Given the description of an element on the screen output the (x, y) to click on. 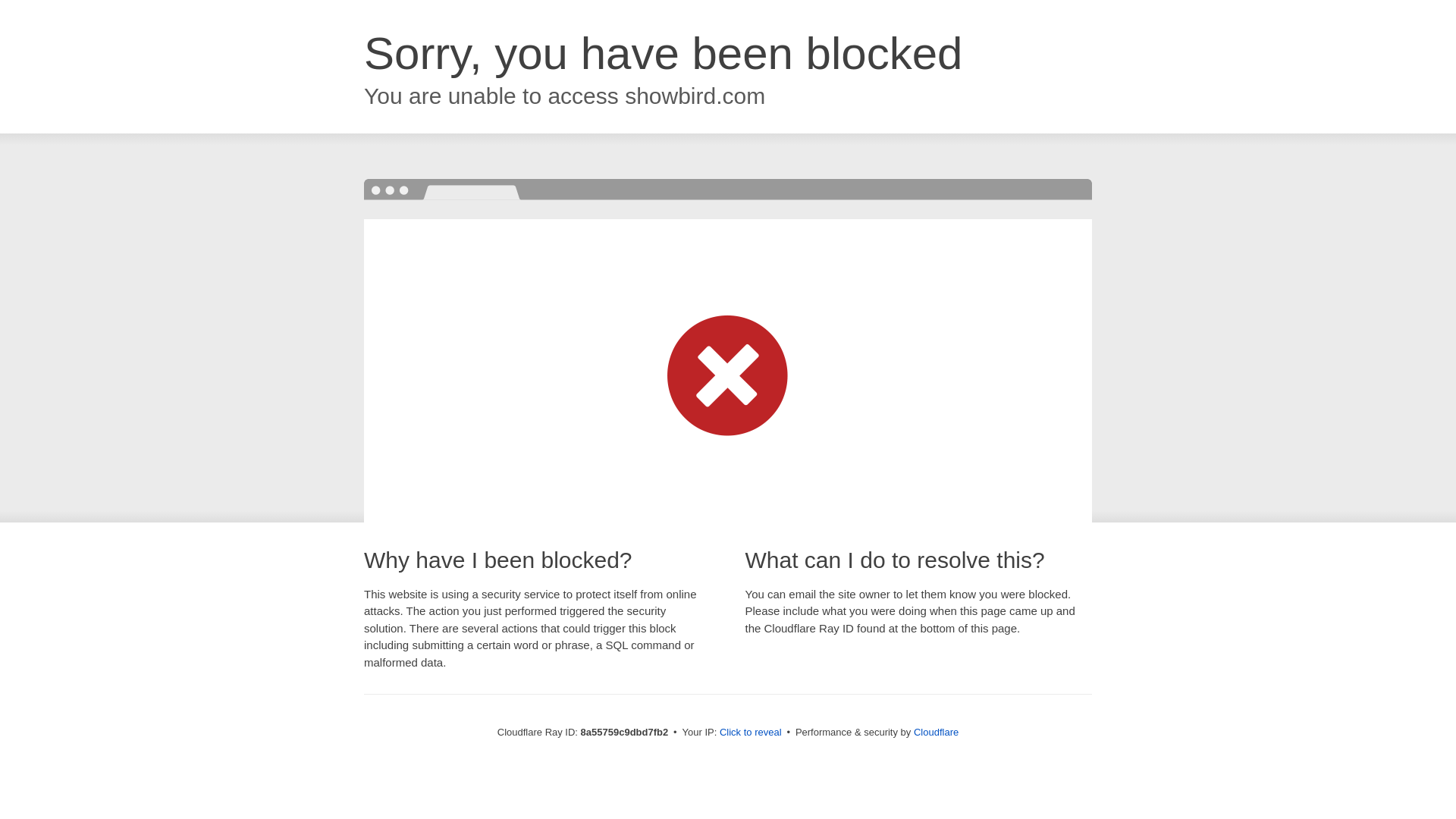
Click to reveal (750, 732)
Cloudflare (936, 731)
